Given the description of an element on the screen output the (x, y) to click on. 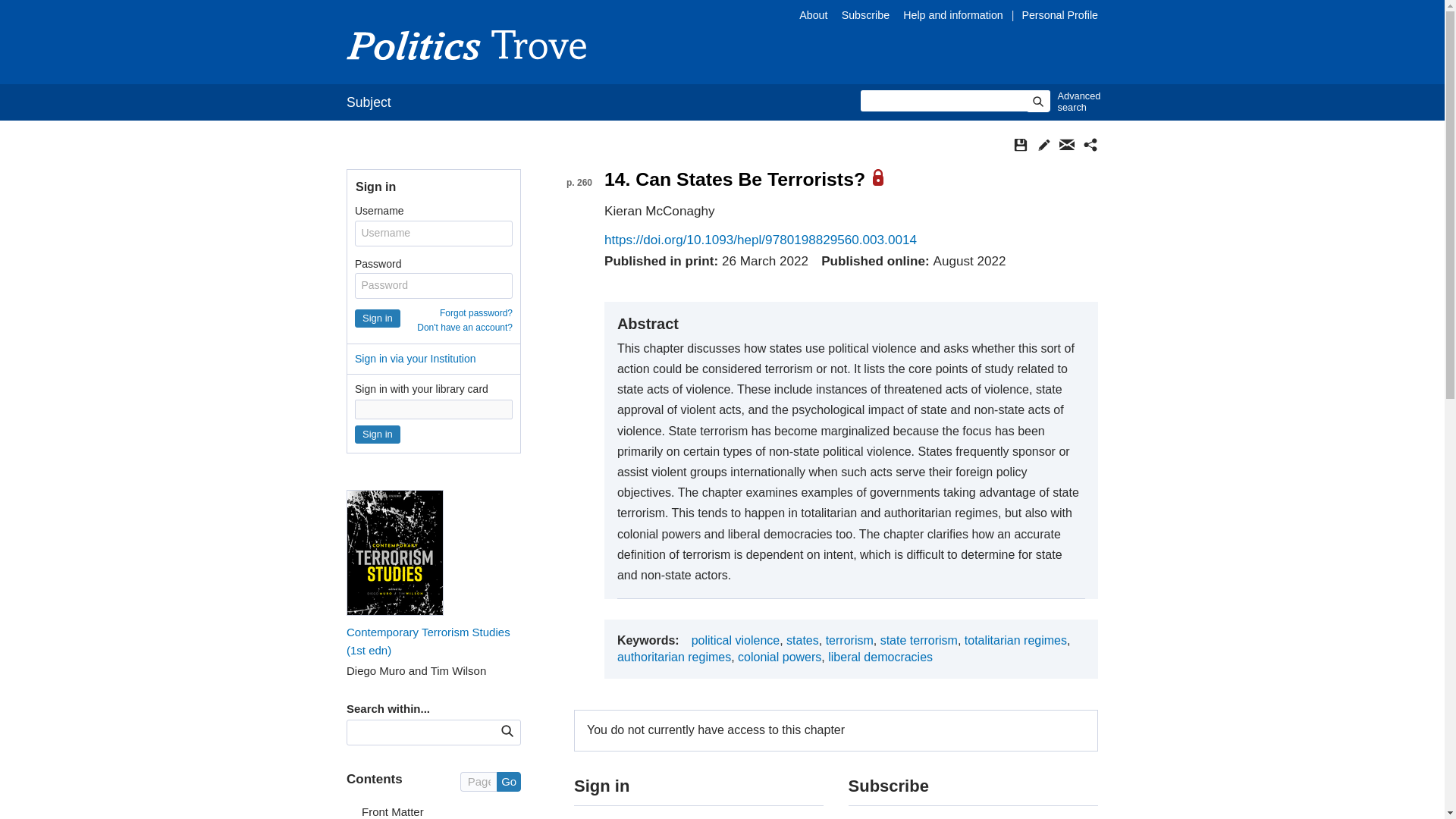
Save article to your personal profile (1020, 144)
Subject (368, 102)
Sign in (377, 434)
Save (1020, 144)
Search (1037, 101)
Go (508, 781)
Jump to Content (55, 11)
GO (507, 730)
Help and information (954, 15)
Share This (1090, 144)
Search (507, 730)
Forgot password? (475, 312)
Search (1037, 101)
Cite (1043, 144)
GO (507, 730)
